Given the description of an element on the screen output the (x, y) to click on. 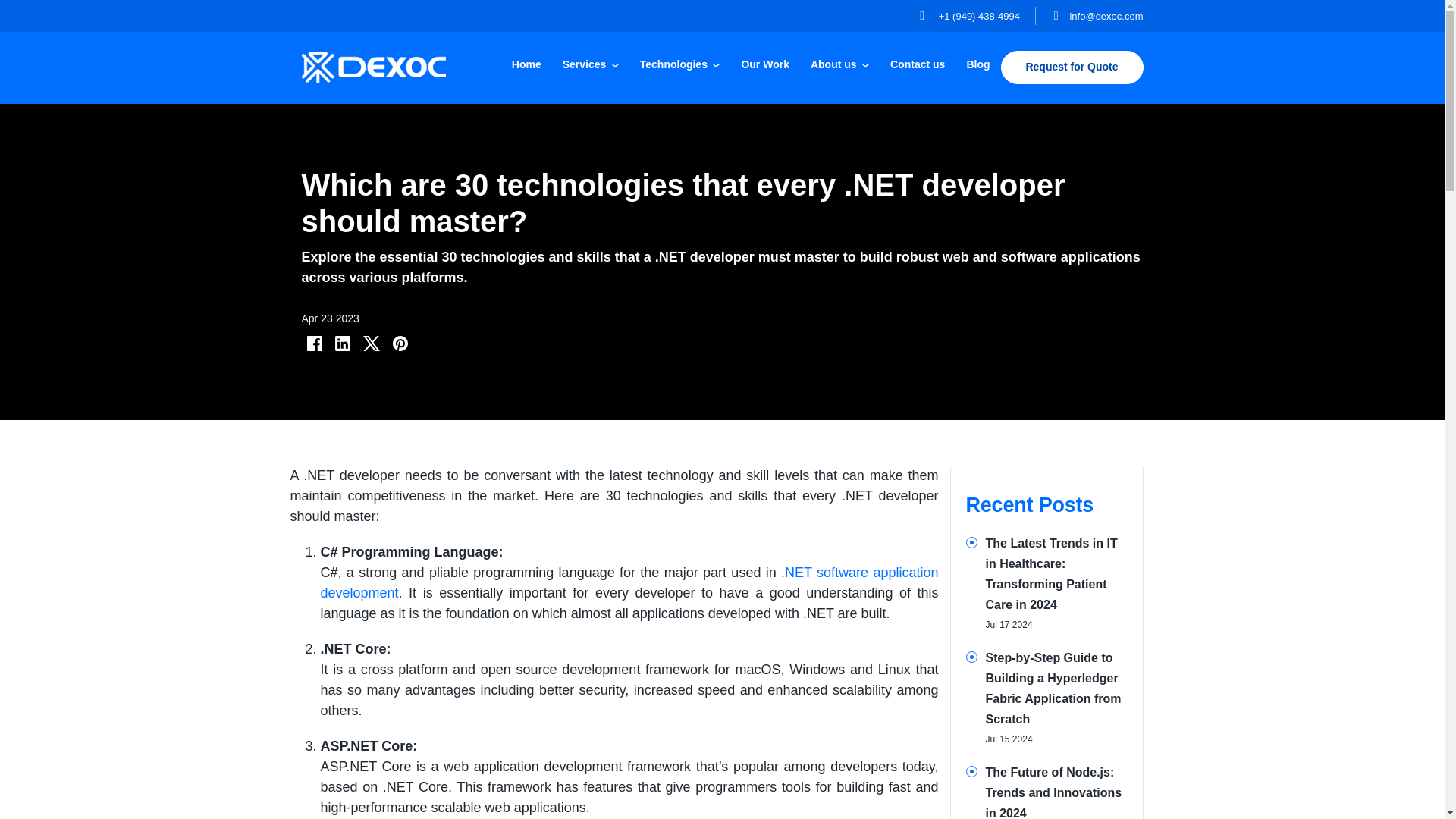
Portfolio (764, 64)
About us (839, 64)
About us (839, 64)
Contact us (917, 64)
Our Work (764, 64)
Technologies (679, 64)
Home (525, 64)
The Future of Node.js: Trends and Innovations in 2024 (1053, 792)
Blog (977, 64)
Request for Quote (1071, 67)
.NET software application development (628, 582)
Services (589, 64)
Home (525, 64)
